Given the description of an element on the screen output the (x, y) to click on. 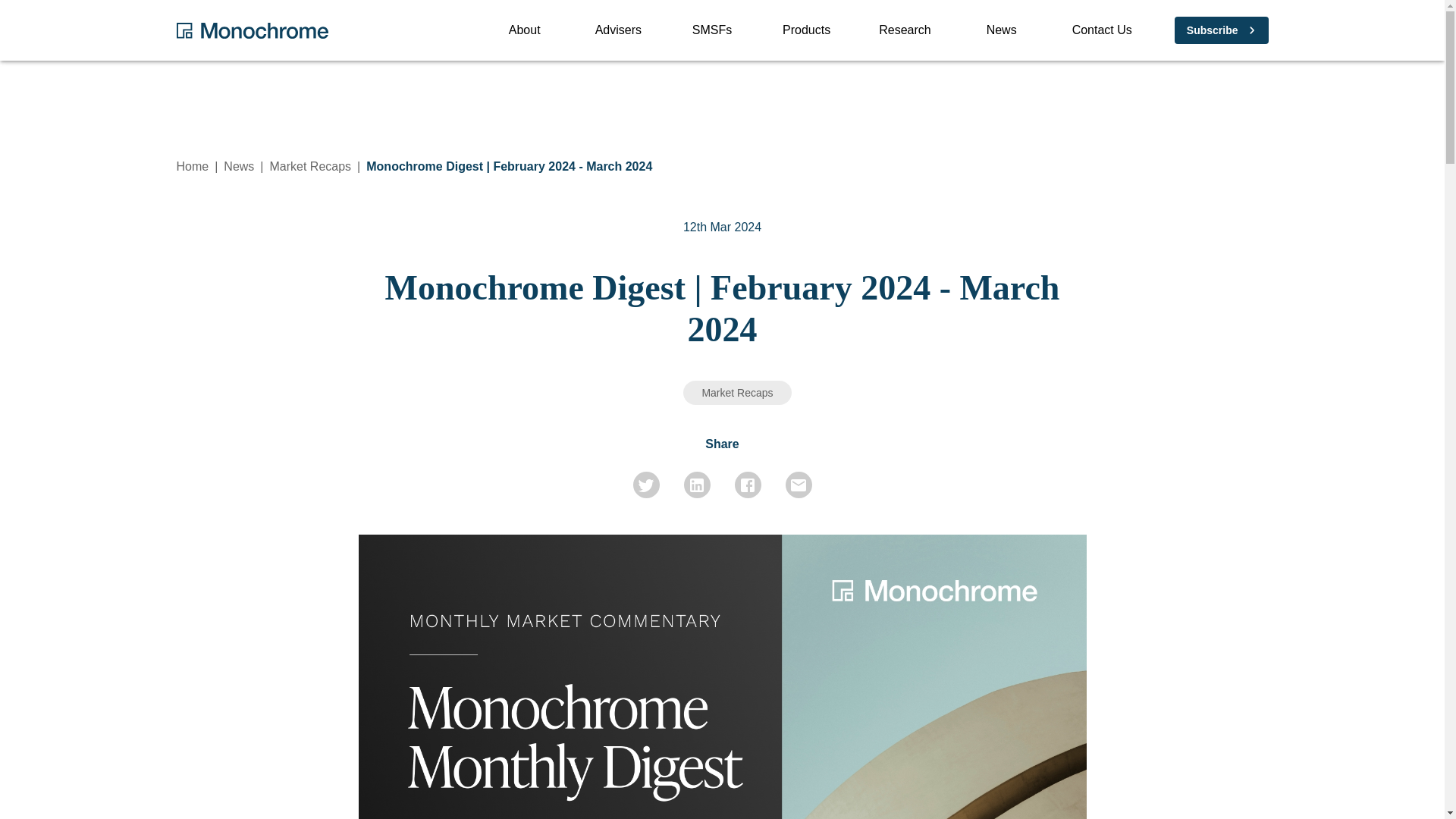
Market Recaps (736, 392)
SMSFs (711, 30)
News (817, 30)
Advisers (1001, 30)
Market Recaps (618, 30)
Home (310, 165)
About (192, 165)
Research (524, 30)
News (904, 30)
